Given the description of an element on the screen output the (x, y) to click on. 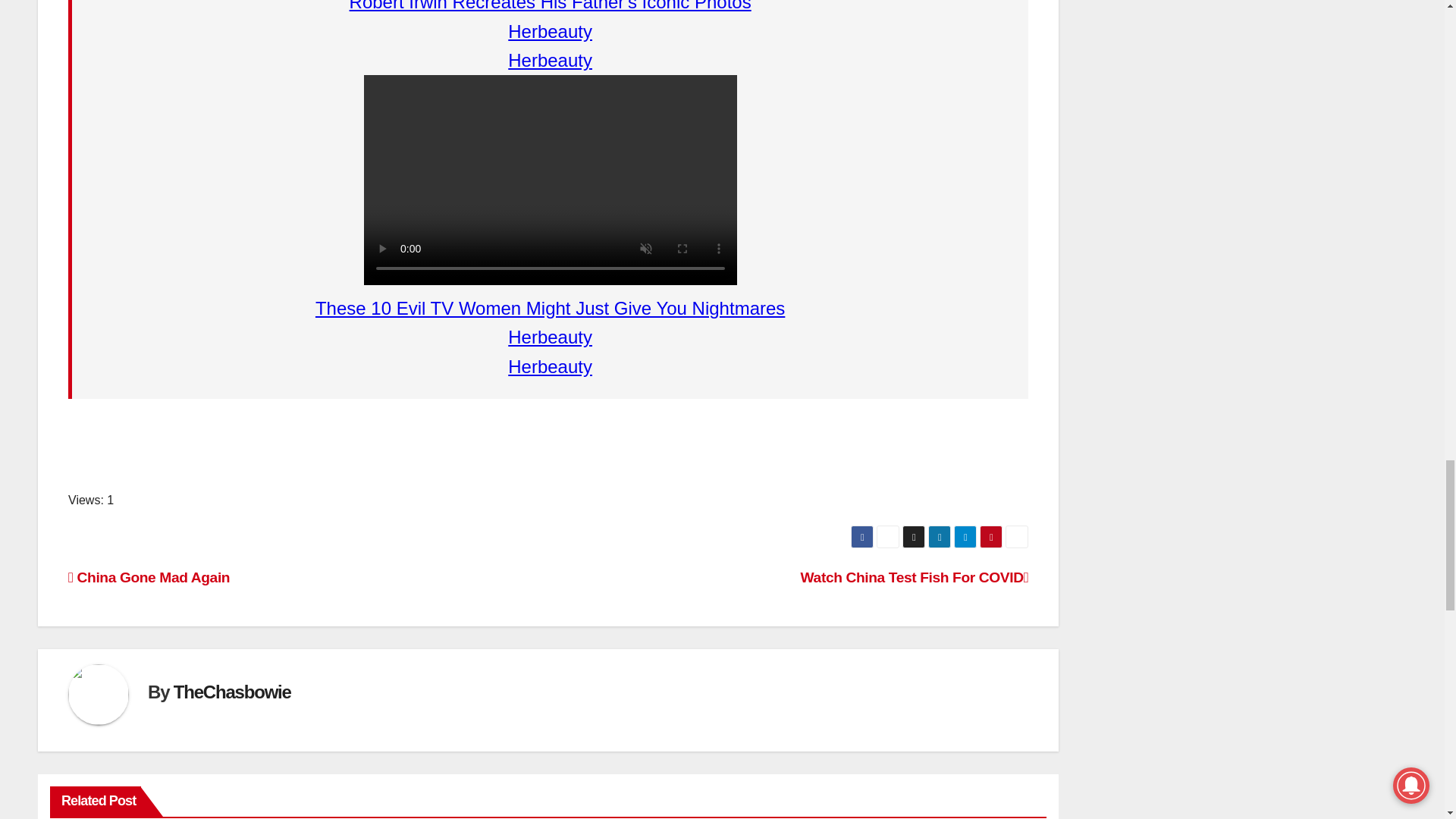
China Gone Mad Again (149, 577)
TheChasbowie (232, 691)
Watch China Test Fish For COVID (914, 577)
